Given the description of an element on the screen output the (x, y) to click on. 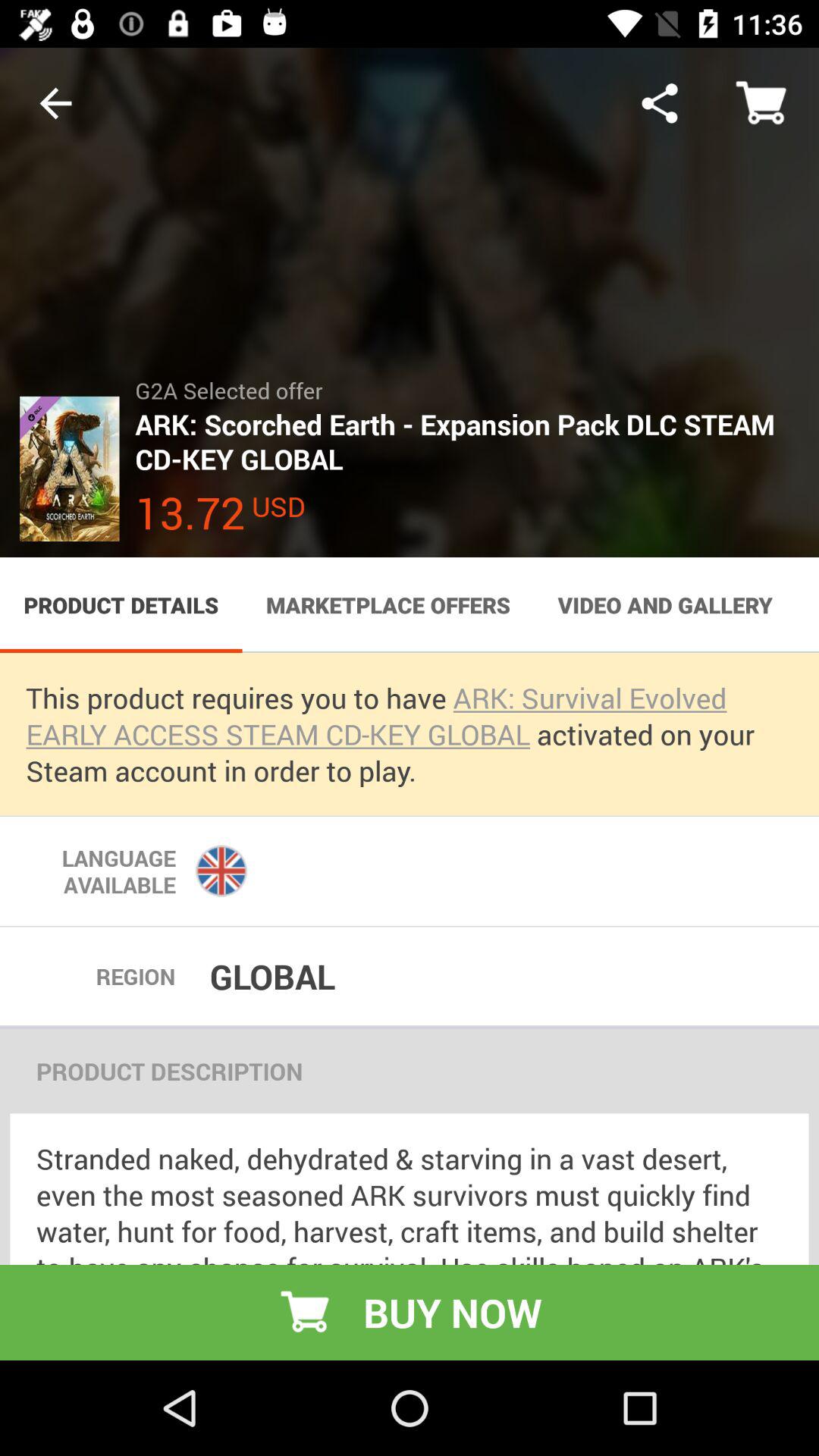
turn off the icon above g2a selected offer (659, 103)
